Given the description of an element on the screen output the (x, y) to click on. 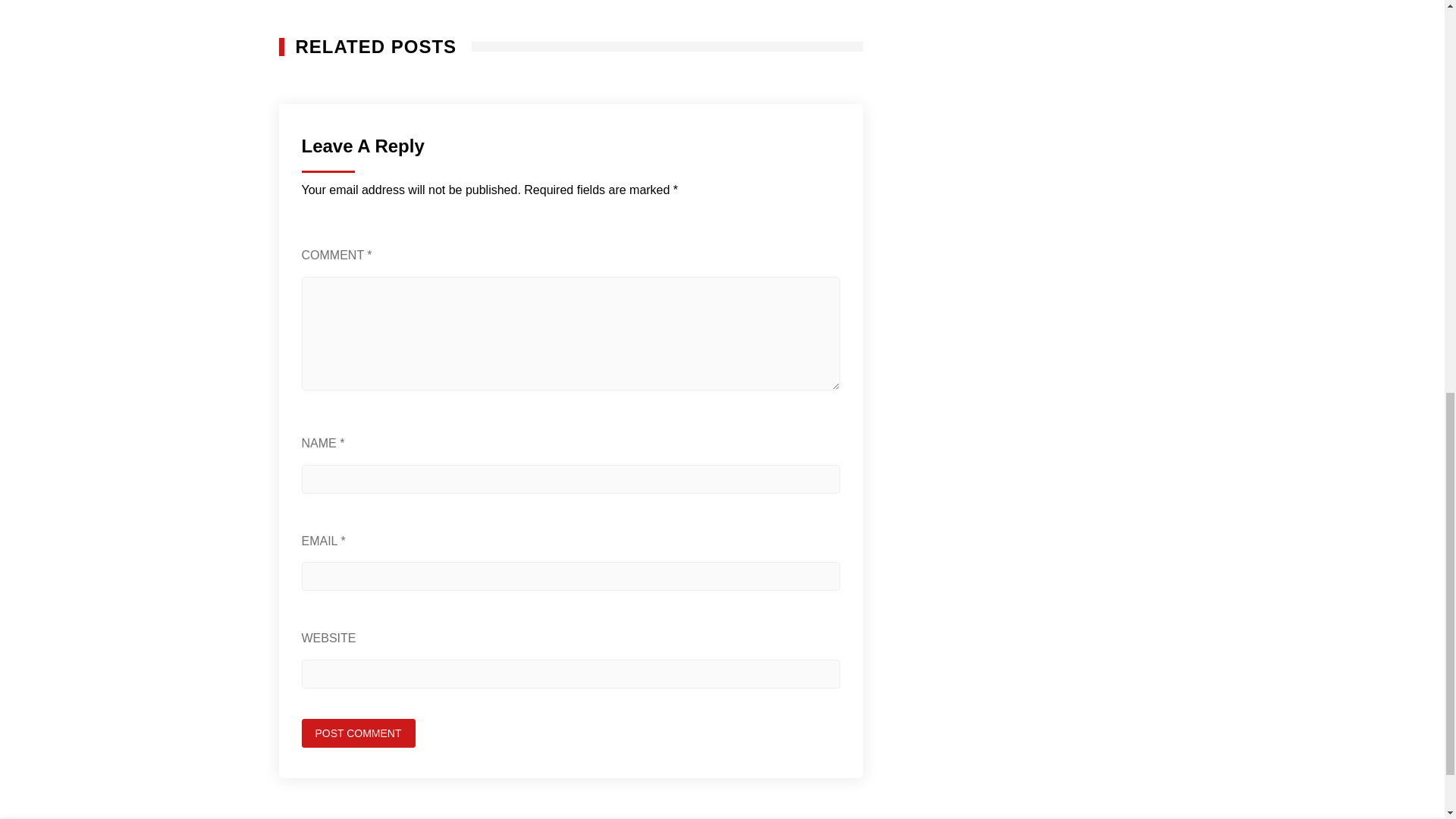
Post Comment (357, 733)
Post Comment (357, 733)
